Given the description of an element on the screen output the (x, y) to click on. 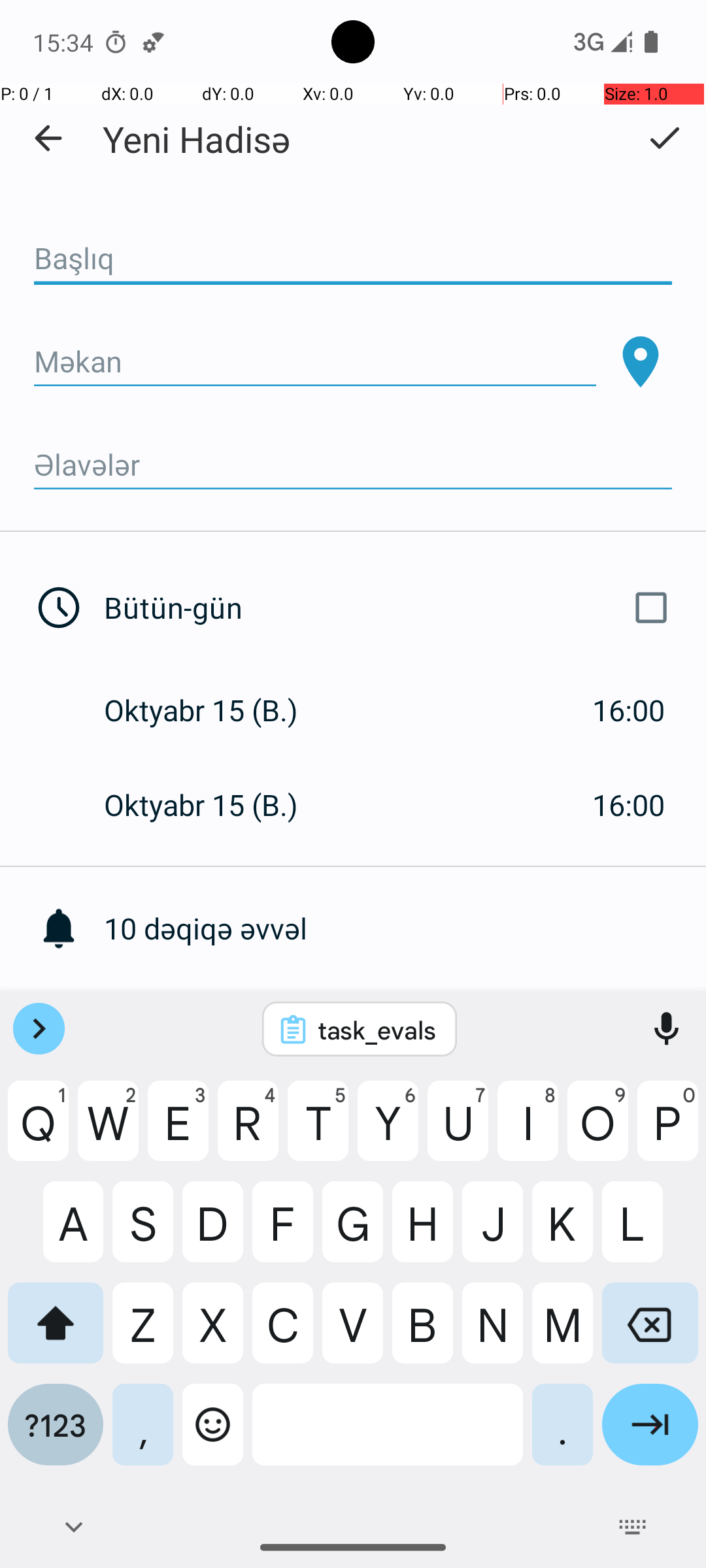
Yeni Hadisə Element type: android.widget.TextView (196, 138)
Saxla Element type: android.widget.Button (664, 137)
Başlıq Element type: android.widget.EditText (352, 258)
Məkan Element type: android.widget.EditText (314, 361)
Əlavələr Element type: android.widget.EditText (352, 465)
Oktyabr 15 (B.) Element type: android.widget.TextView (214, 709)
10 dəqiqə əvvəl Element type: android.widget.TextView (404, 927)
Başqa bir xatırladıcı əlavə et Element type: android.widget.TextView (404, 1022)
Bütün-gün Element type: android.widget.CheckBox (390, 607)
